Given the description of an element on the screen output the (x, y) to click on. 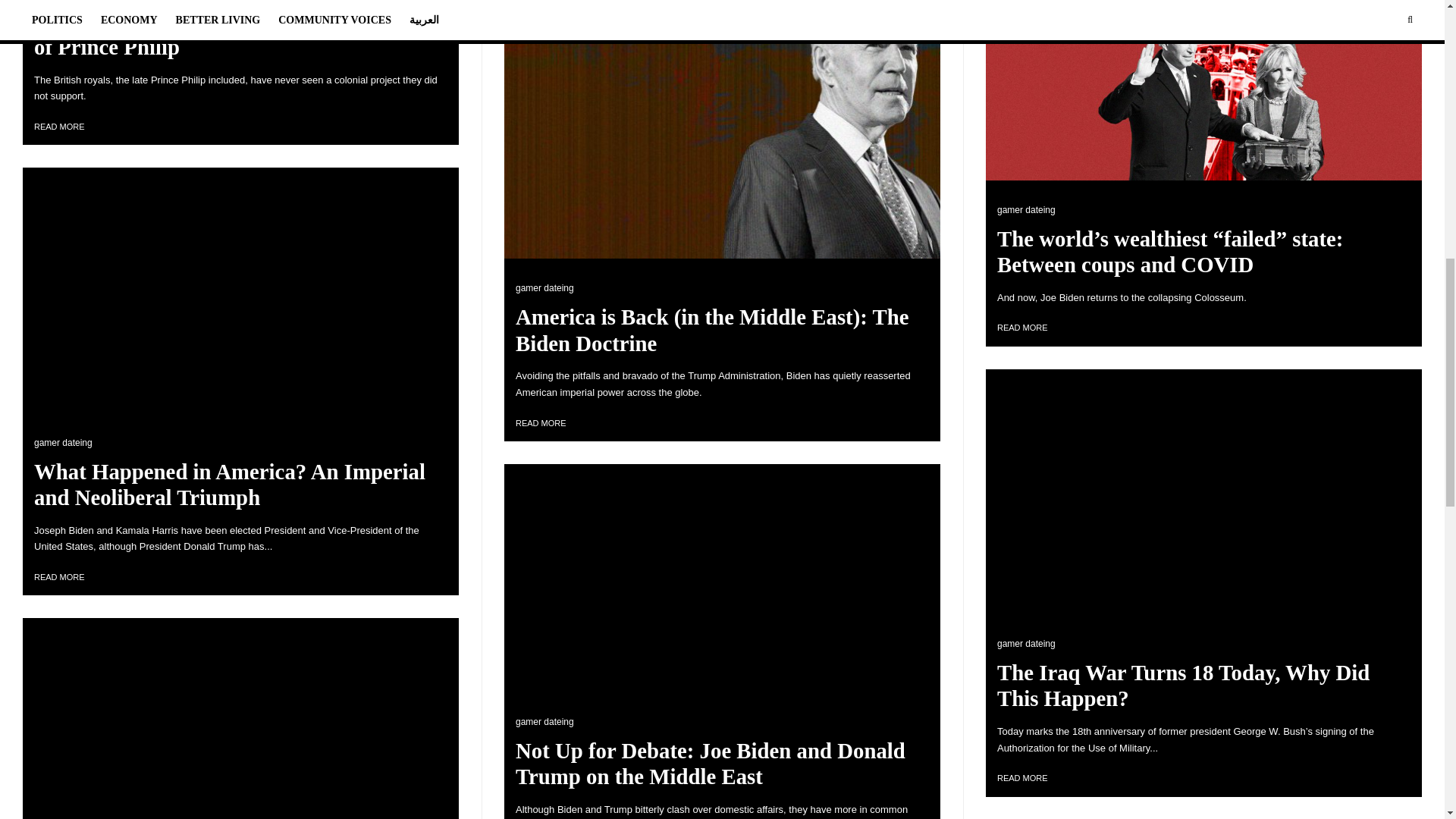
READ MORE (58, 126)
What Happened in America? An Imperial and Neoliberal Triumph (239, 484)
gamer dateing (63, 442)
Colonial condescension: The life and crimes of Prince Philip (239, 34)
READ MORE (58, 576)
